Given the description of an element on the screen output the (x, y) to click on. 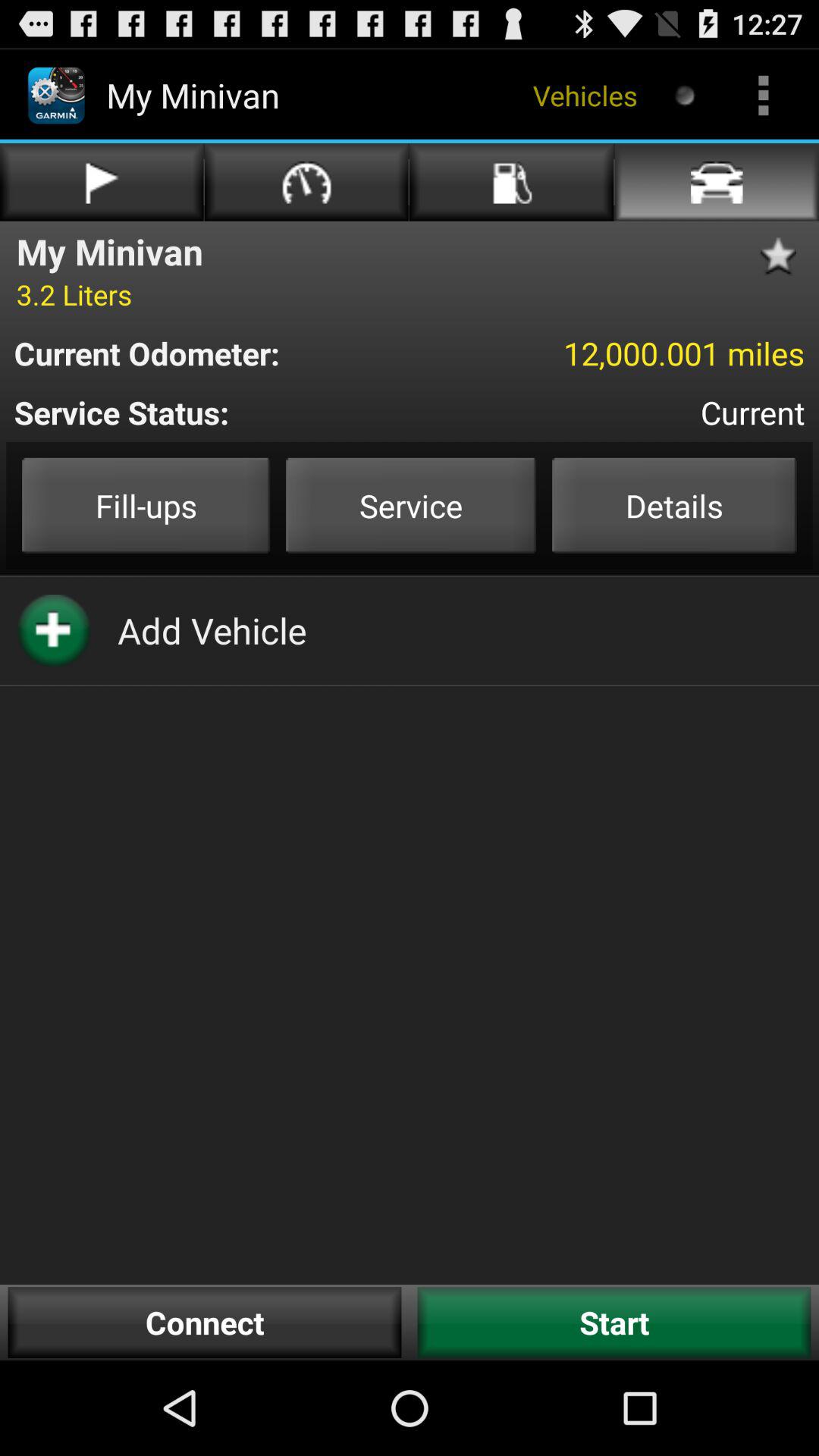
turn on the icon to the right of the connect icon (614, 1322)
